Given the description of an element on the screen output the (x, y) to click on. 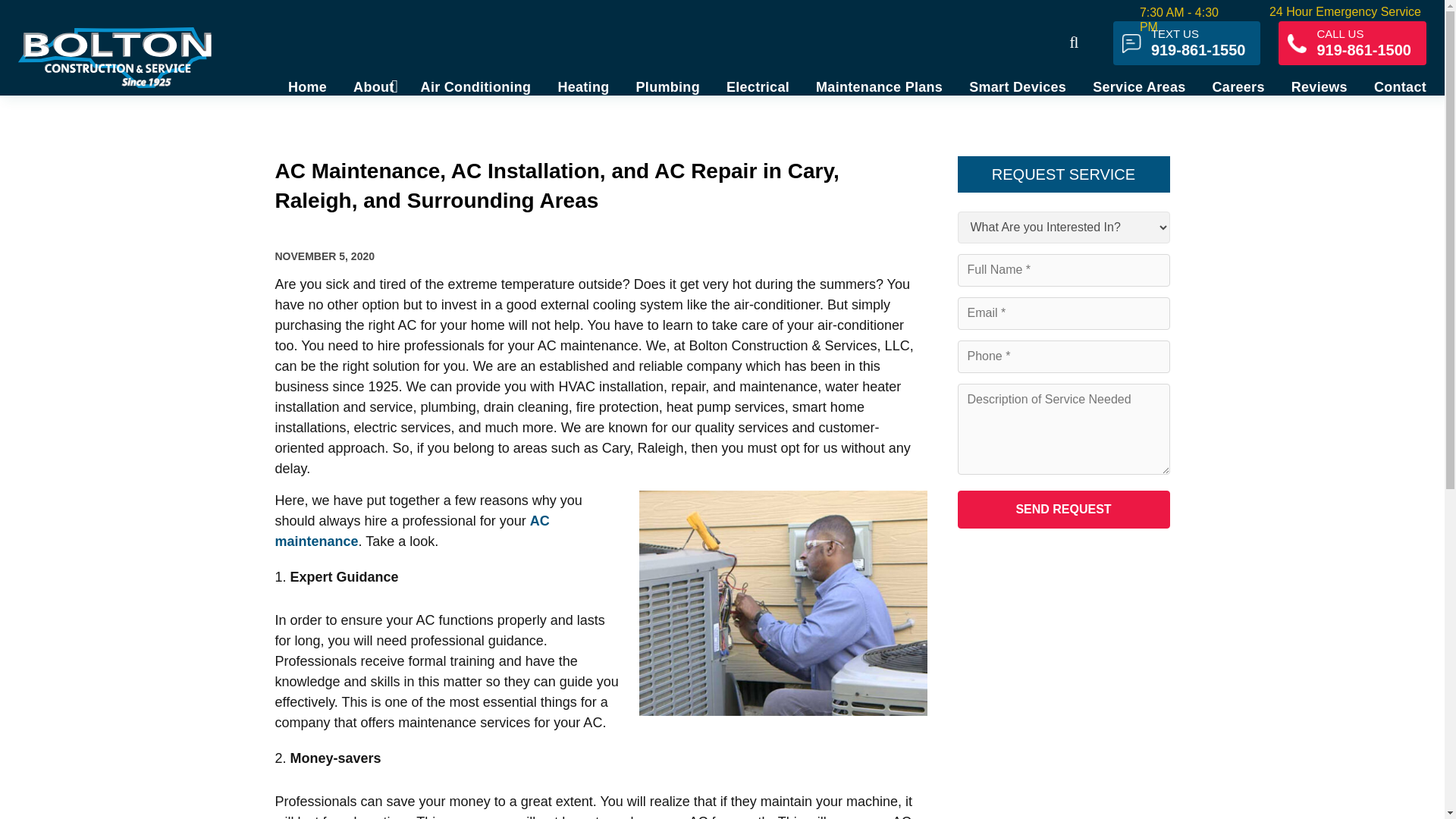
About (373, 86)
SEND REQUEST (1062, 509)
Home (312, 86)
SEND REQUEST (1062, 509)
Heating (1352, 43)
Smart Devices (583, 86)
Contact (1017, 86)
Maintenance Plans (1394, 86)
Air Conditioning (879, 86)
